Given the description of an element on the screen output the (x, y) to click on. 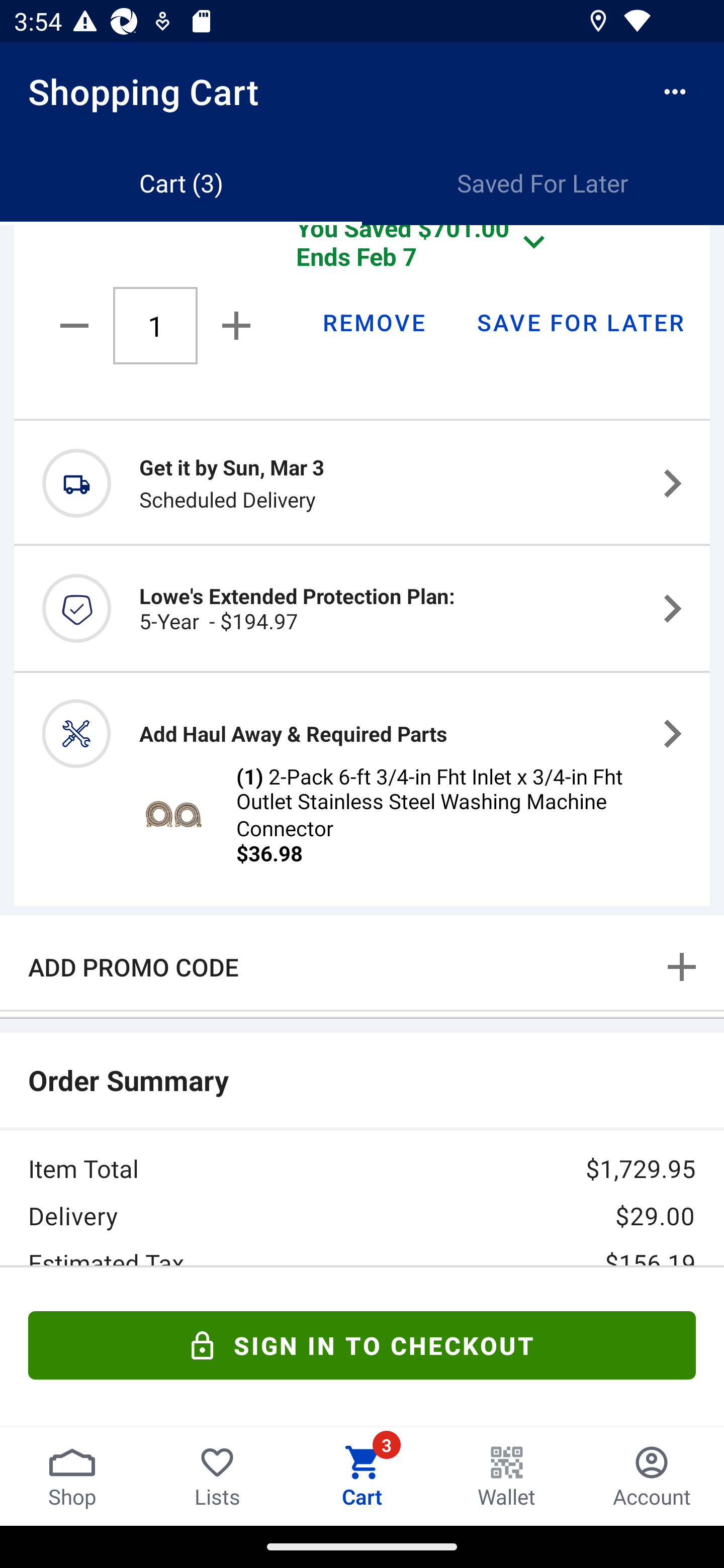
More options (674, 91)
Saved For Later (543, 183)
You Saved $701.00
Ends Feb 7 (425, 252)
REMOVE (373, 321)
SAVE FOR LATER (580, 321)
1 (154, 324)
increase quantity (232, 325)
decrease quantity (76, 325)
Get it by Sun, Mar 3 Scheduled Delivery (361, 482)
Lowe's Extended Protection Plan:
5-Year  - $194.97 (361, 608)
ADD PROMO CODE (362, 966)
You're saving $701.00 off your items! (361, 1341)
Shop (72, 1475)
Lists (216, 1475)
Wallet (506, 1475)
Account (651, 1475)
